Given the description of an element on the screen output the (x, y) to click on. 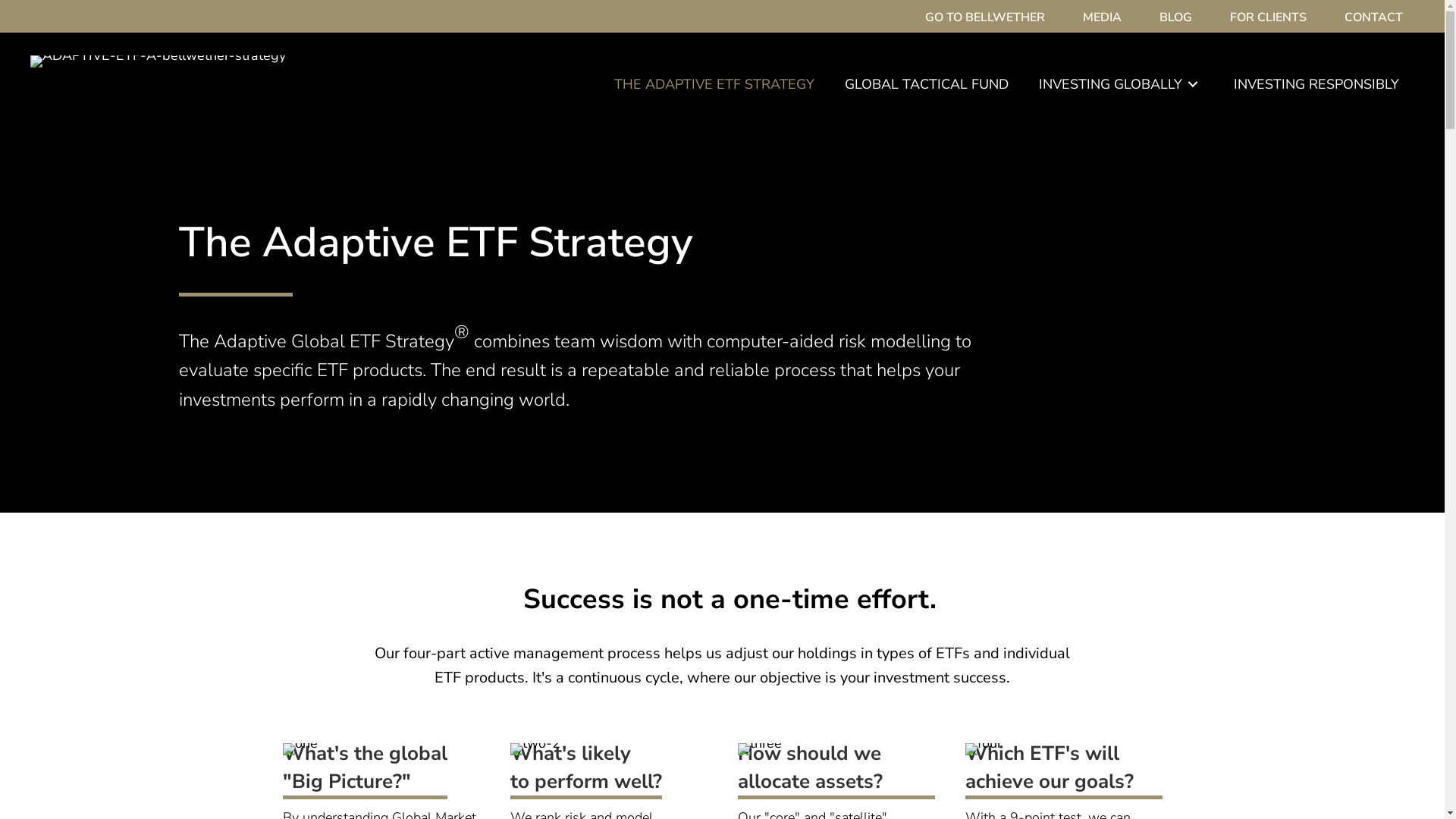
THE ADAPTIVE ETF STRATEGY Element type: text (721, 83)
CONTACT Element type: text (1381, 17)
BLOG Element type: text (1183, 17)
INVESTING GLOBALLY Element type: text (1128, 83)
GO TO BELLWETHER Element type: text (992, 17)
GLOBAL TACTICAL FUND Element type: text (933, 83)
INVESTING RESPONSIBLY Element type: text (1323, 83)
MEDIA Element type: text (1109, 17)
FOR CLIENTS Element type: text (1275, 17)
